Given the description of an element on the screen output the (x, y) to click on. 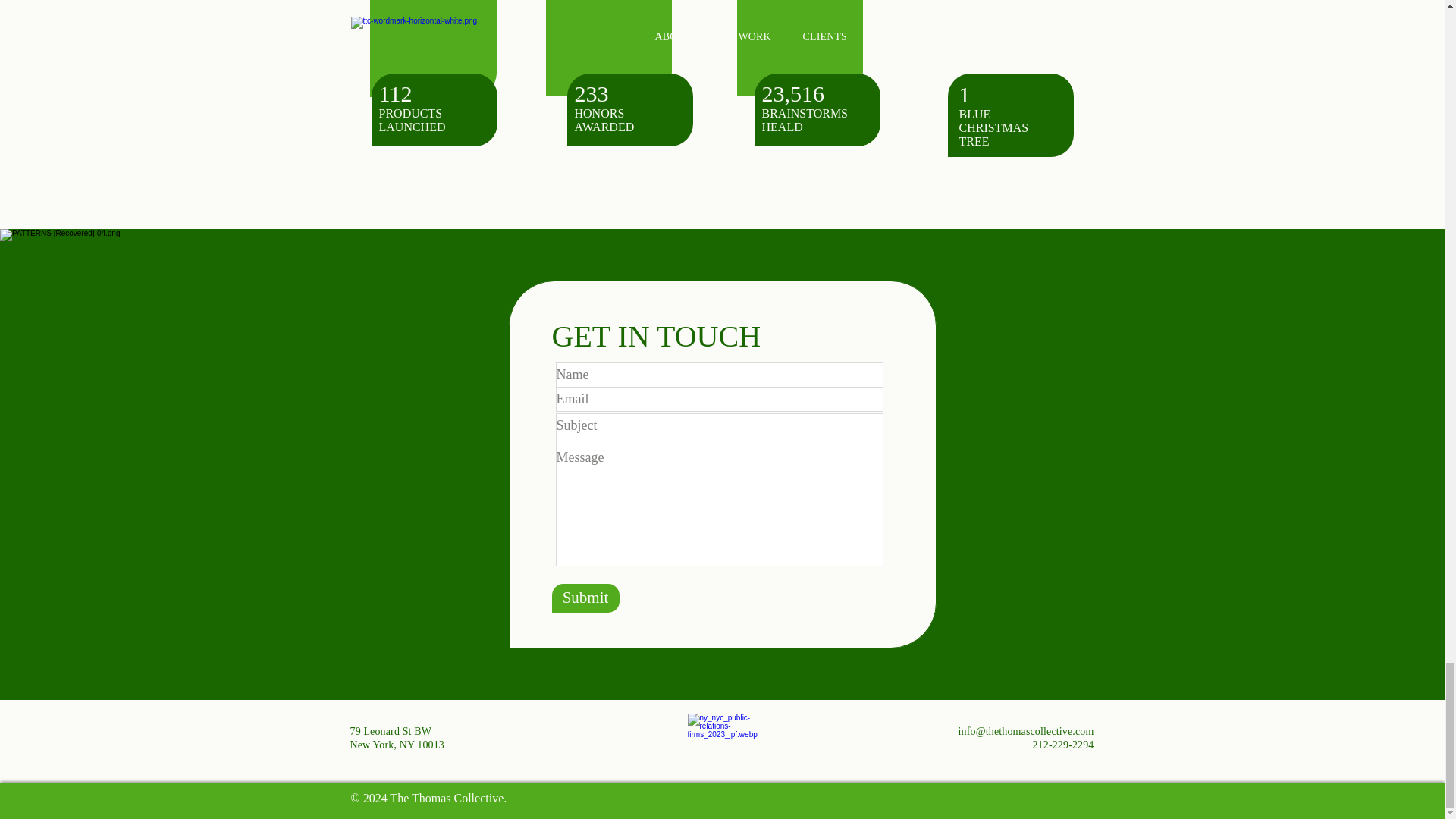
Screen Shot 2024-02-05 at 11.55.18 AM.pn (817, 58)
Screen Shot 2024-02-05 at 11.55.18 AM.pn (1007, 58)
Screen Shot 2024-02-05 at 11.55.18 AM.pn (629, 58)
Submit (585, 597)
Screen Shot 2024-02-05 at 11.55.18 AM.pn (437, 58)
